Given the description of an element on the screen output the (x, y) to click on. 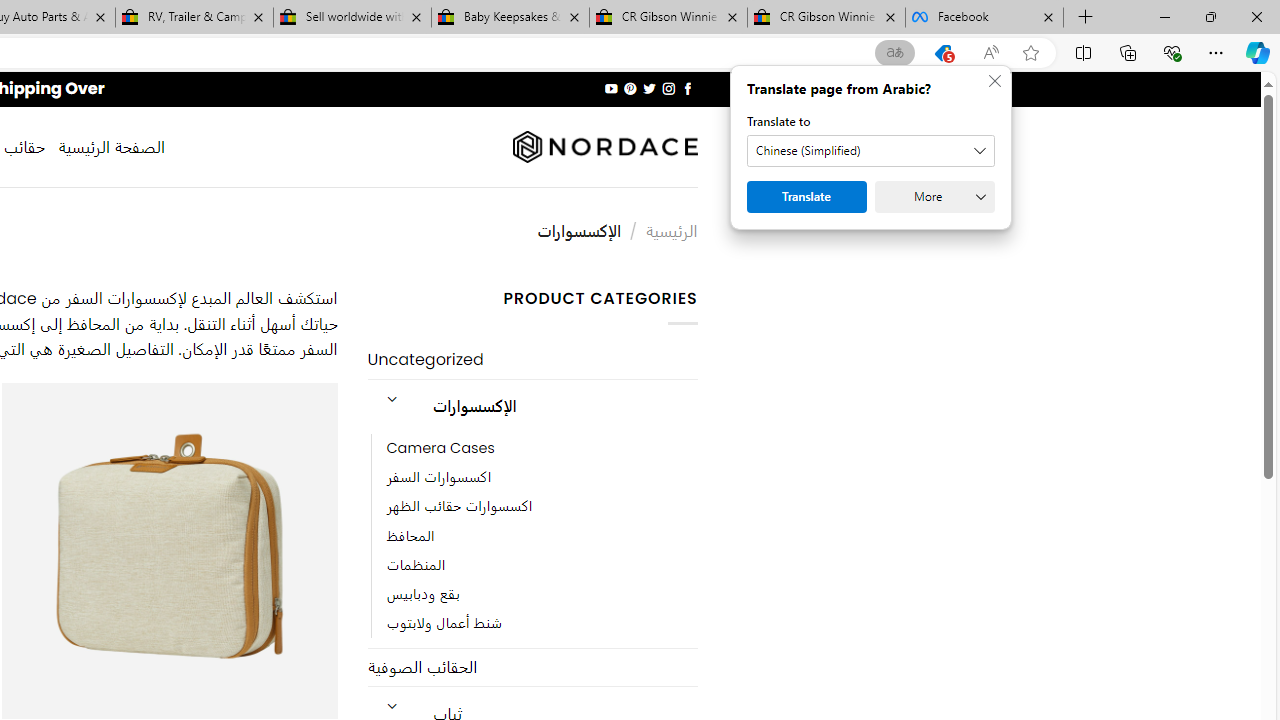
RV, Trailer & Camper Steps & Ladders for sale | eBay (194, 17)
Translate to (870, 151)
Baby Keepsakes & Announcements for sale | eBay (509, 17)
More (934, 196)
